Given the description of an element on the screen output the (x, y) to click on. 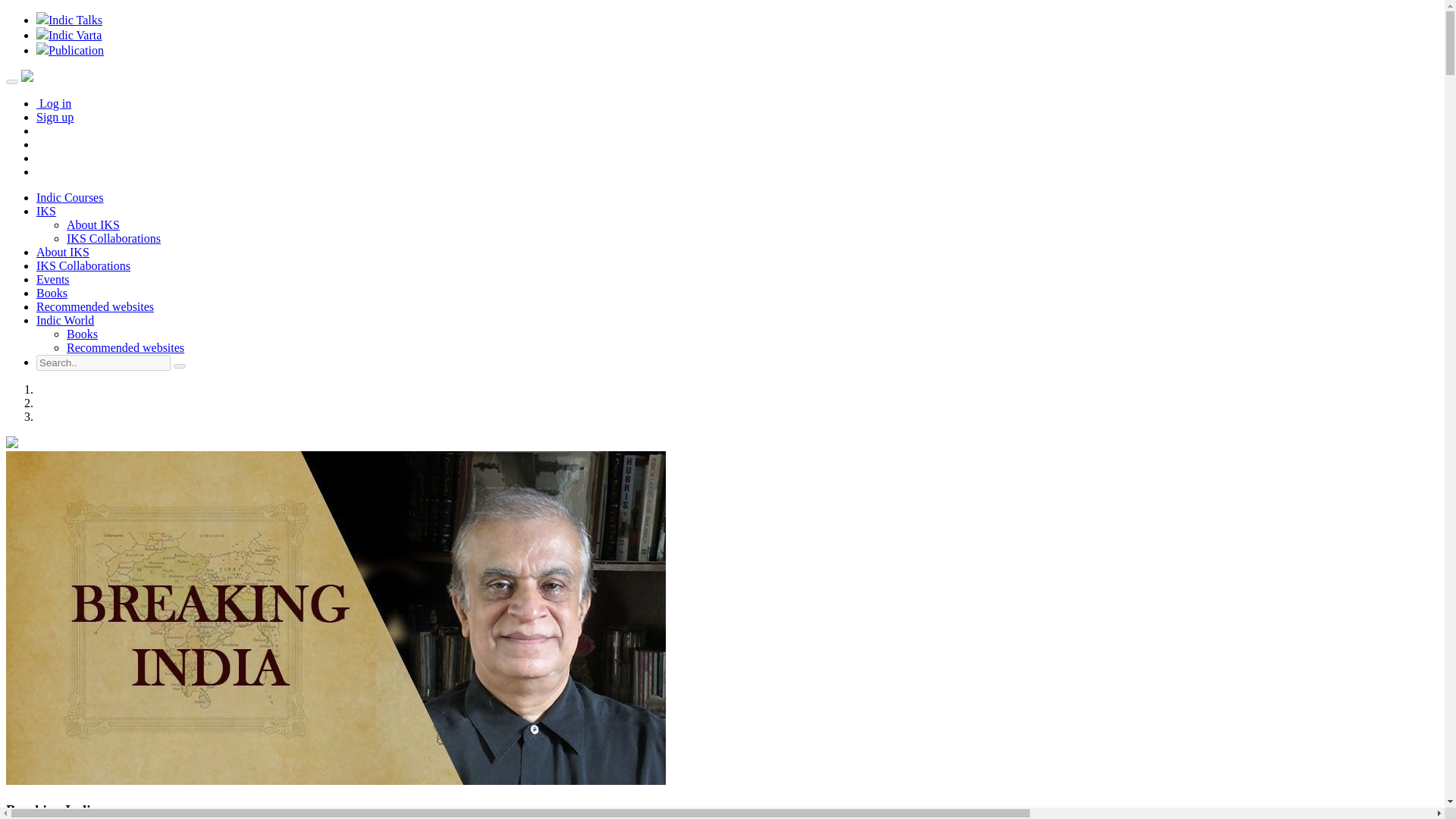
IKS Collaborations (113, 237)
About IKS (62, 251)
Books (81, 333)
 Log in (53, 103)
Indic World (65, 319)
Events (52, 278)
About IKS (92, 224)
IKS Collaborations (83, 265)
Recommended websites (125, 347)
Indic Courses (69, 196)
IKS (46, 210)
Indic Talks (68, 19)
Indic Varta (68, 34)
Breaking India (51, 810)
Recommended websites (95, 306)
